Given the description of an element on the screen output the (x, y) to click on. 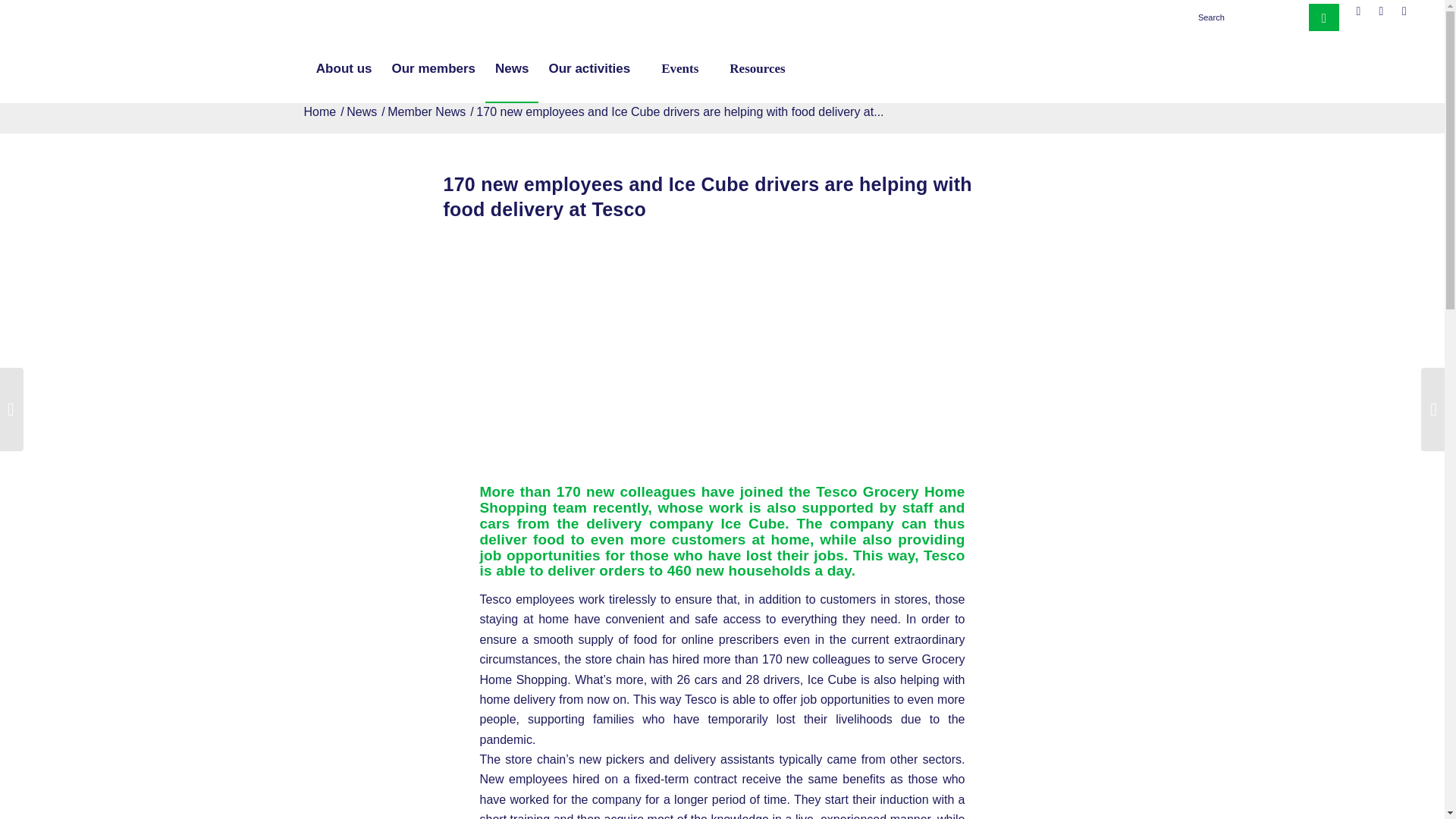
About us (343, 69)
Our activities (589, 69)
LinkedIn (1380, 11)
News (360, 111)
Our members (433, 69)
Facebook (1359, 11)
Resources (750, 69)
Mail (1404, 11)
Events (673, 69)
Tesco (721, 362)
